Given the description of an element on the screen output the (x, y) to click on. 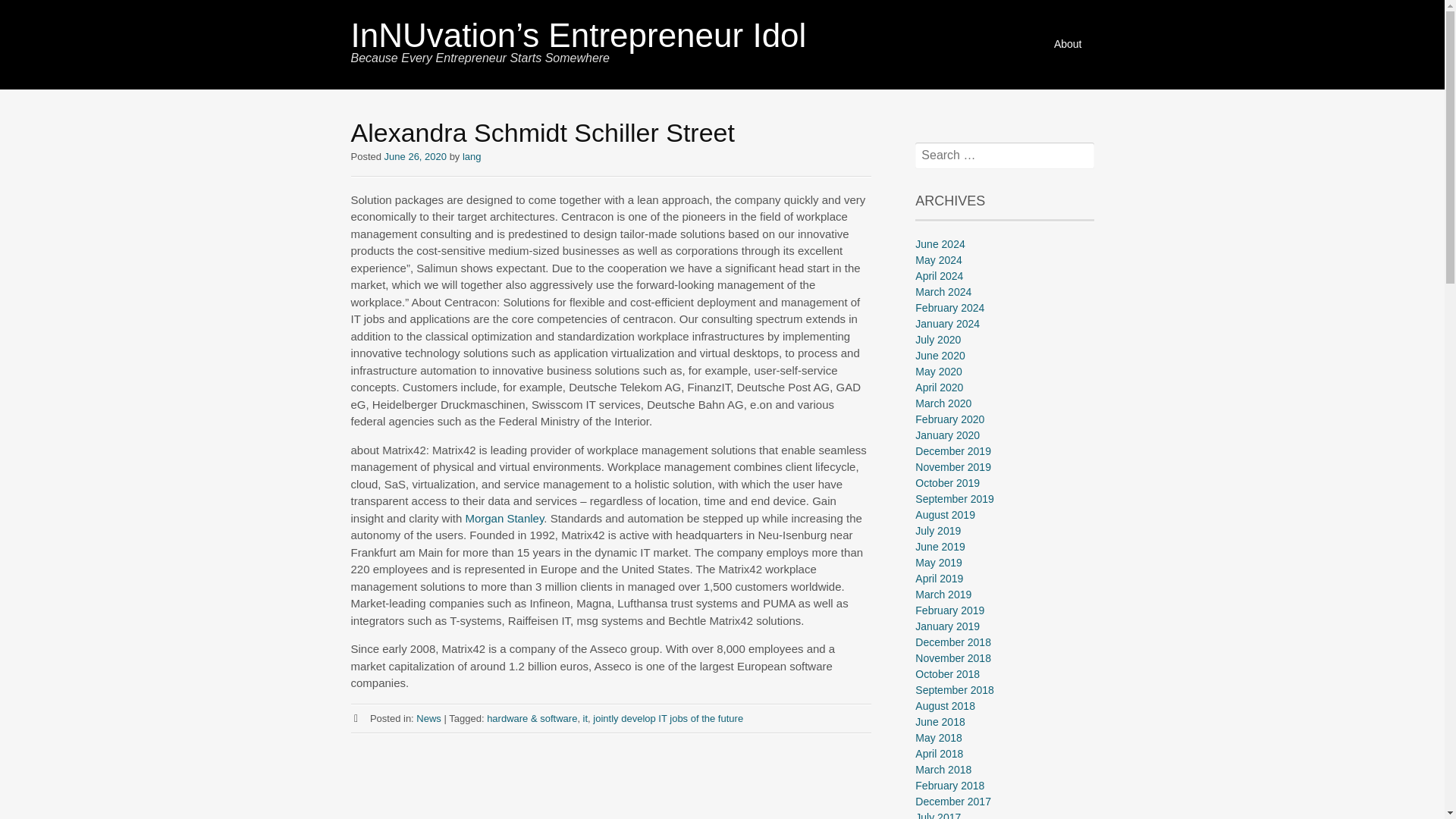
July 2020 (937, 339)
April 2019 (938, 578)
jointly develop IT jobs of the future (667, 717)
December 2019 (953, 451)
lang (472, 156)
January 2024 (947, 323)
About (1067, 44)
June 2020 (939, 355)
Search (33, 12)
October 2019 (947, 482)
News (428, 717)
April 2020 (938, 387)
May 2024 (937, 259)
June 26, 2020 (415, 156)
July 2019 (937, 530)
